Given the description of an element on the screen output the (x, y) to click on. 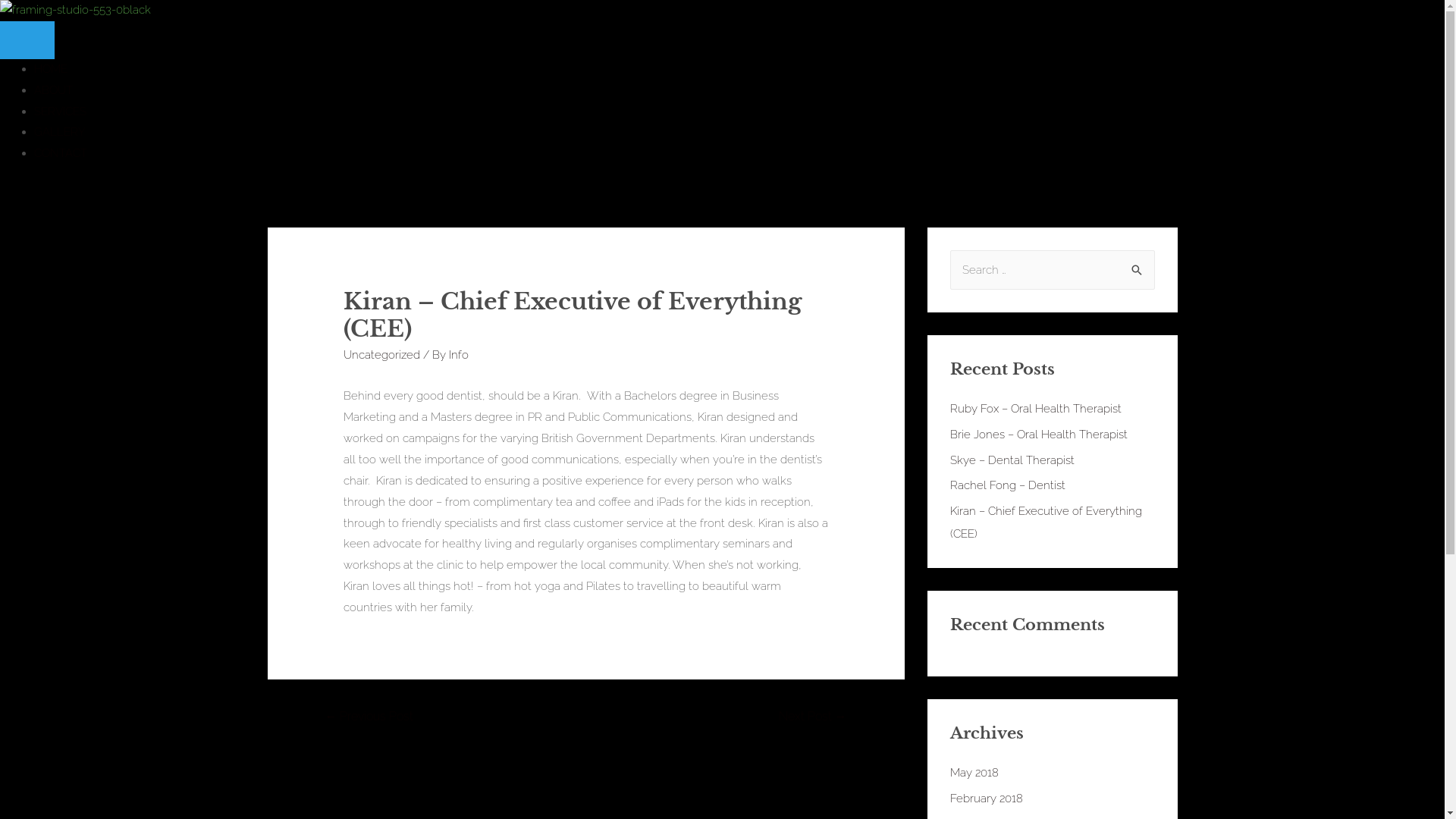
SERVICES Element type: text (60, 111)
HOME Element type: text (50, 68)
May 2018 Element type: text (973, 772)
February 2018 Element type: text (985, 798)
Search Element type: text (1137, 270)
framing-studio-553-0black Element type: hover (75, 10)
CONTACT Element type: text (60, 153)
Info Element type: text (458, 354)
GALLERY Element type: text (59, 131)
ABOUT Element type: text (53, 90)
Uncategorized Element type: text (381, 354)
